Given the description of an element on the screen output the (x, y) to click on. 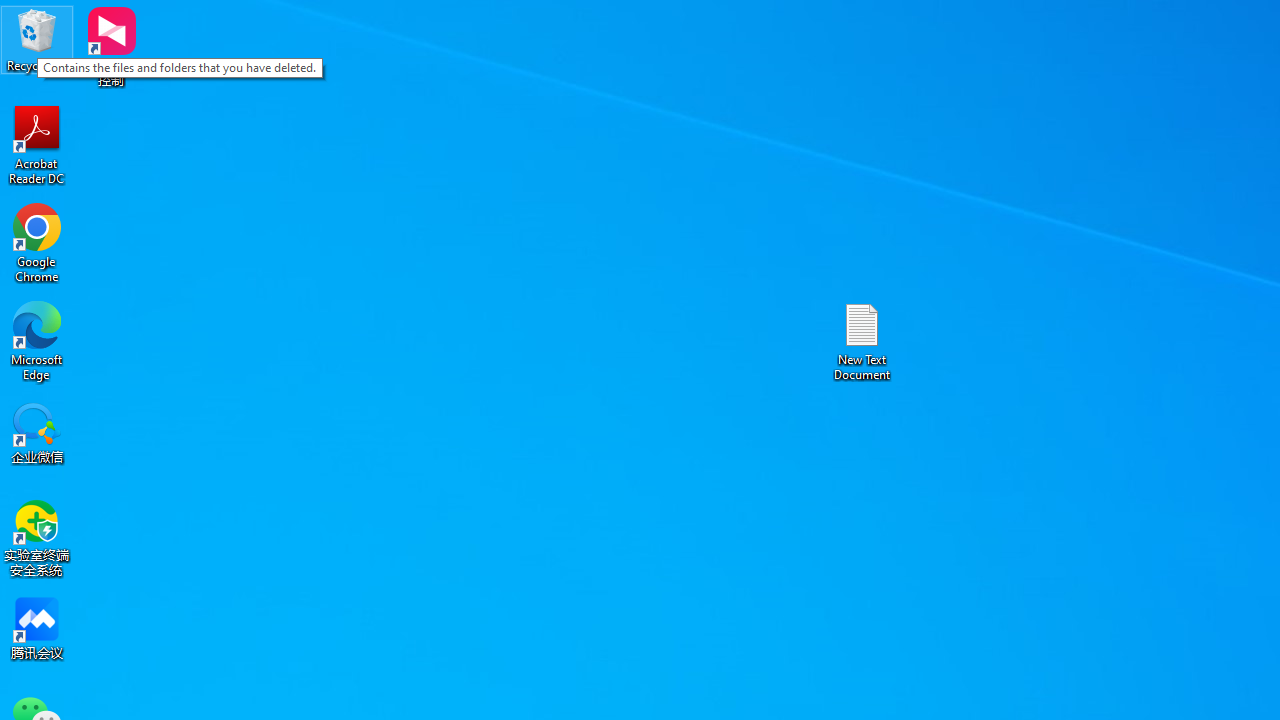
Recycle Bin (37, 39)
Acrobat Reader DC (37, 144)
Microsoft Edge (37, 340)
New Text Document (861, 340)
Google Chrome (37, 242)
